Given the description of an element on the screen output the (x, y) to click on. 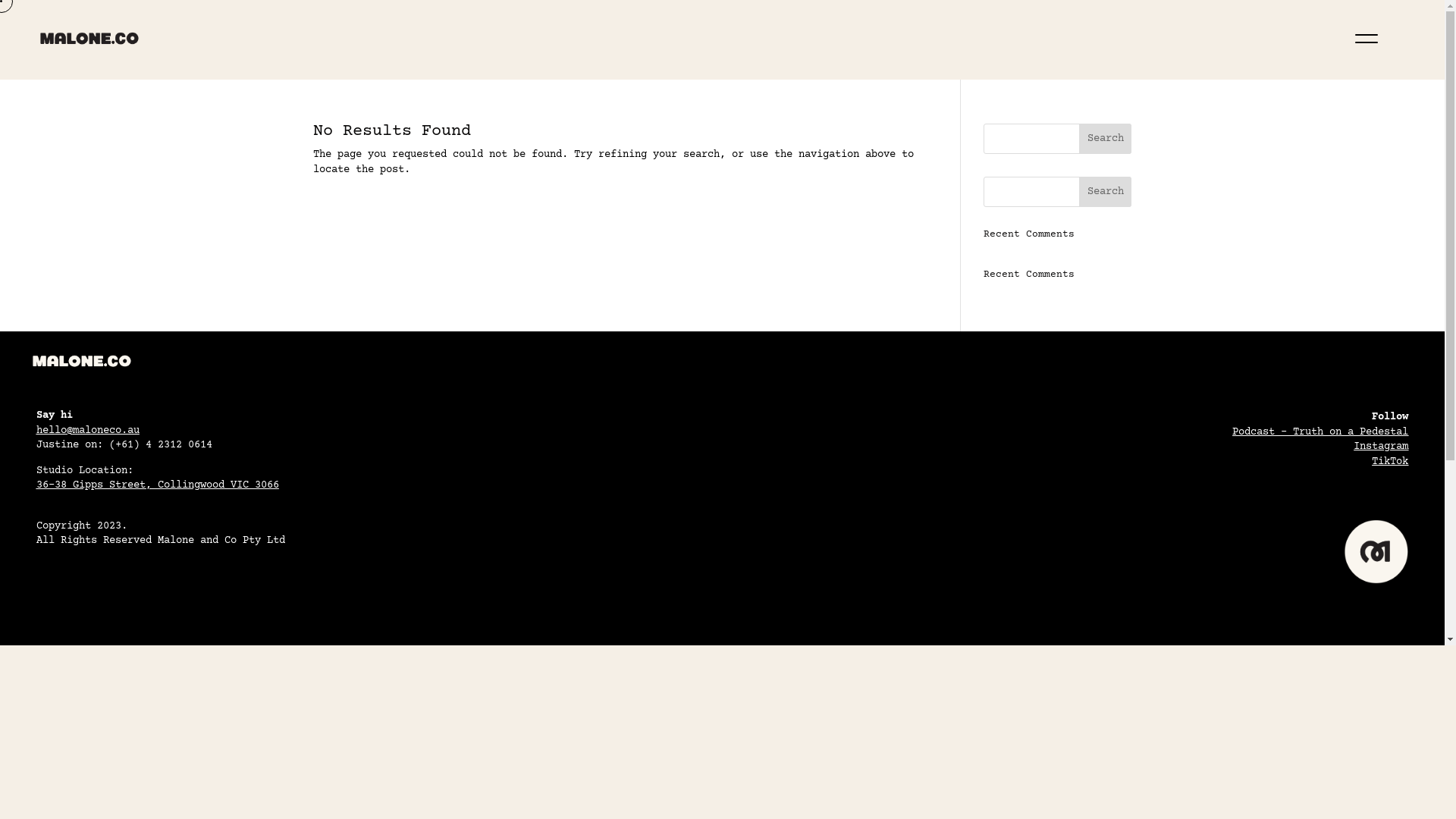
Search Element type: text (1105, 191)
Instagram Element type: text (1380, 446)
TikTok Element type: text (1389, 461)
MaloneCo Element type: hover (81, 360)
Search Element type: text (1105, 138)
36-38 Gipps Street, Collingwood VIC 3066 Element type: text (157, 485)
(+61) 4 2312 0614 Element type: text (160, 445)
MaloneCo Element type: hover (1375, 550)
hello@maloneco.au Element type: text (87, 430)
MaloneCo Element type: hover (89, 37)
